Given the description of an element on the screen output the (x, y) to click on. 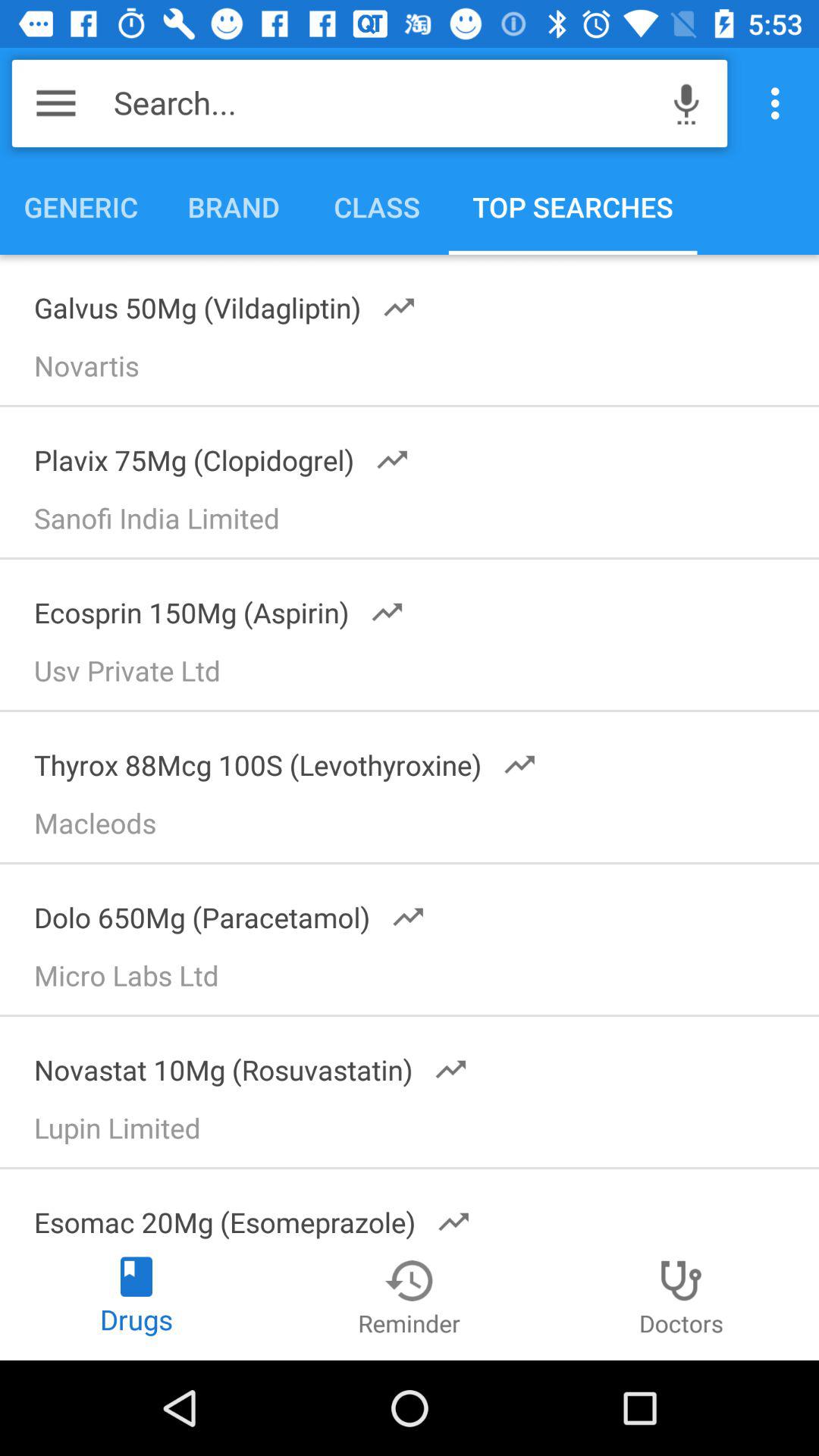
swipe to galvus 50mg (vildagliptin) item (215, 302)
